Given the description of an element on the screen output the (x, y) to click on. 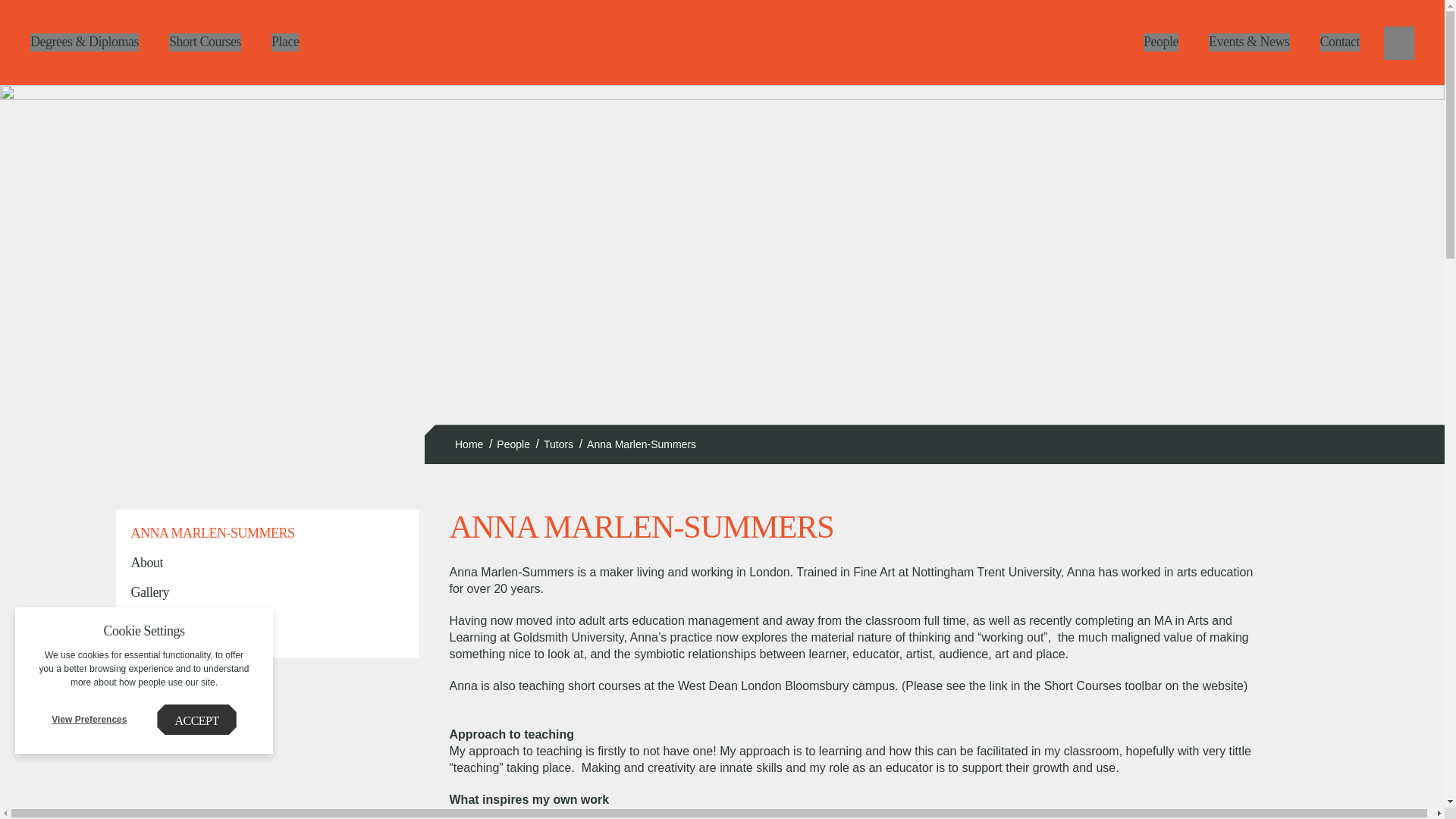
Short Courses (204, 42)
